Given the description of an element on the screen output the (x, y) to click on. 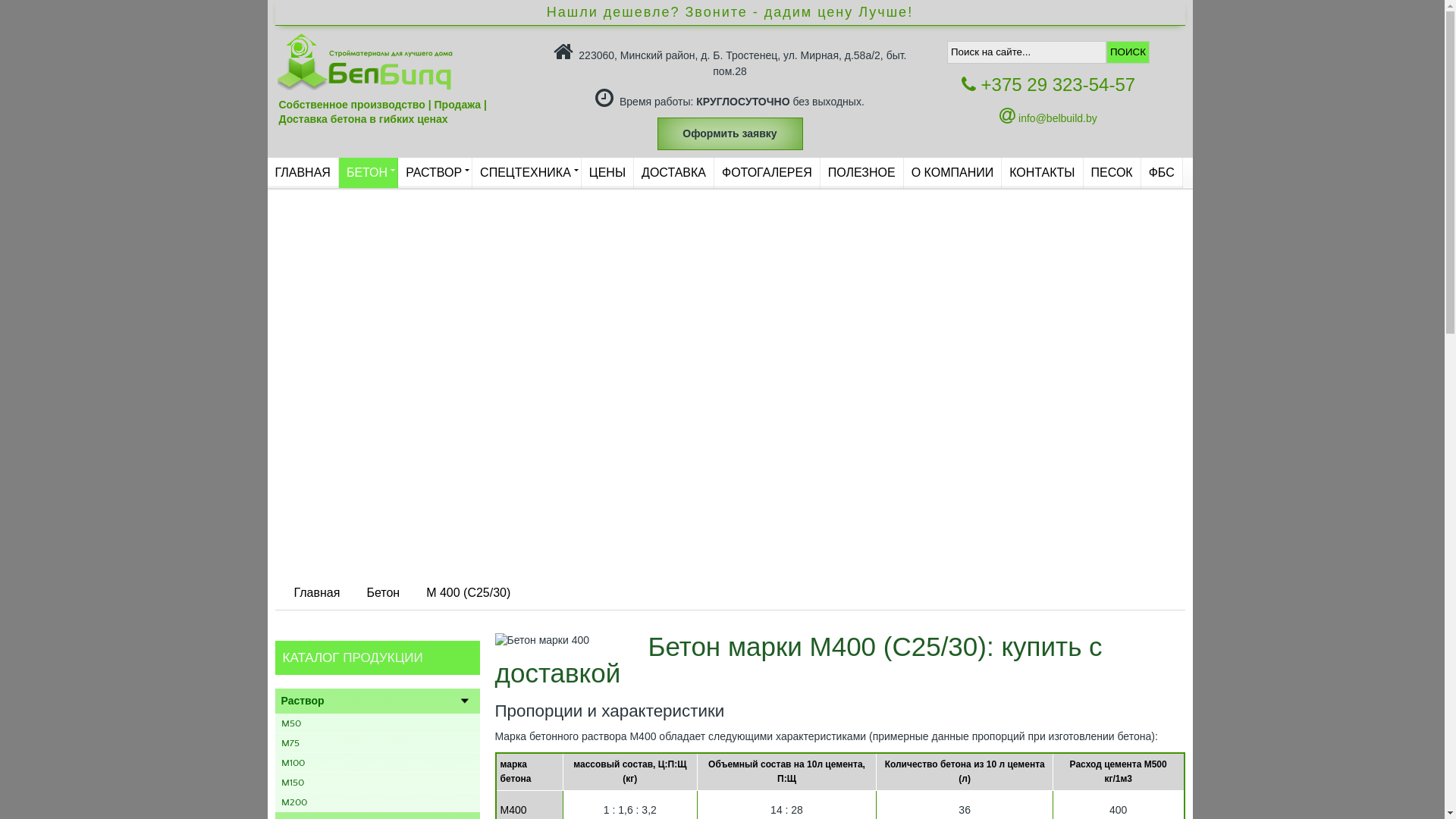
+375 29 323-54-57 Element type: text (1048, 84)
M150 Element type: text (370, 782)
info@belbuild.by Element type: text (1048, 118)
M200 Element type: text (370, 802)
M50 Element type: text (370, 723)
M75 Element type: text (370, 742)
M100 Element type: text (370, 762)
